Given the description of an element on the screen output the (x, y) to click on. 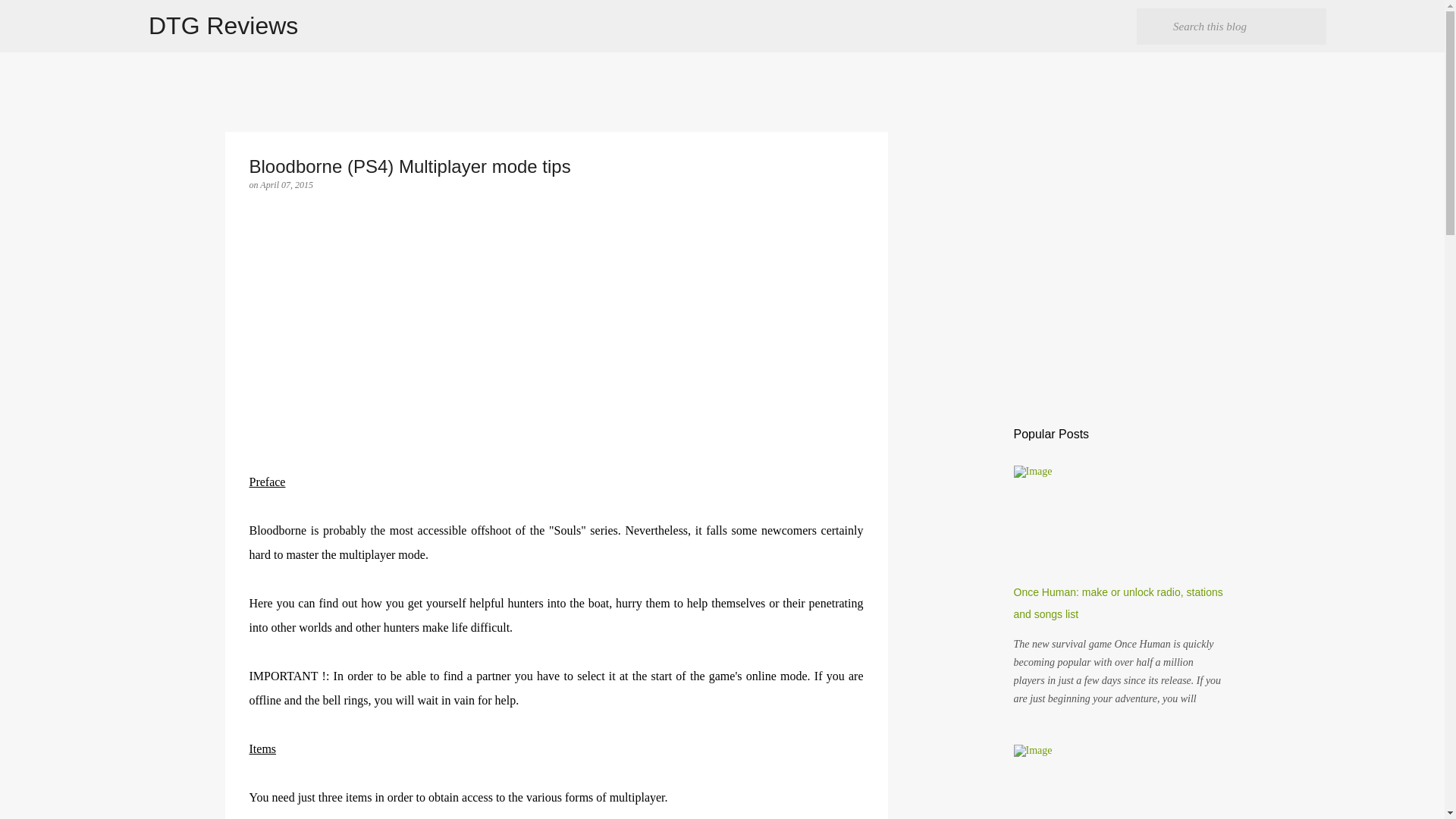
permanent link (286, 184)
Advertisement (555, 363)
Once Human: make or unlock radio, stations and songs list (1118, 602)
DTG Reviews (223, 25)
April 07, 2015 (286, 184)
